Given the description of an element on the screen output the (x, y) to click on. 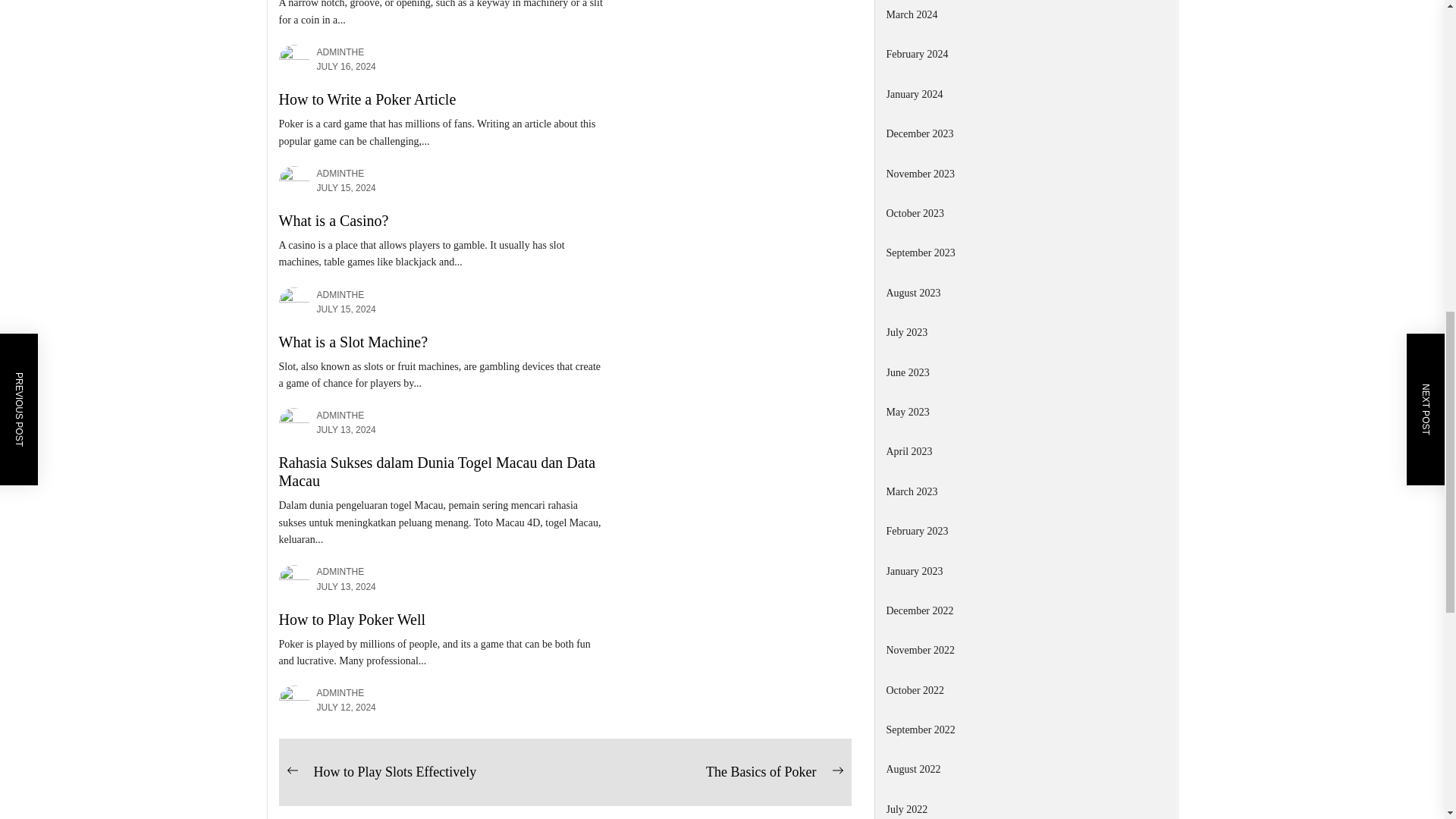
ADMINTHE (341, 51)
